Given the description of an element on the screen output the (x, y) to click on. 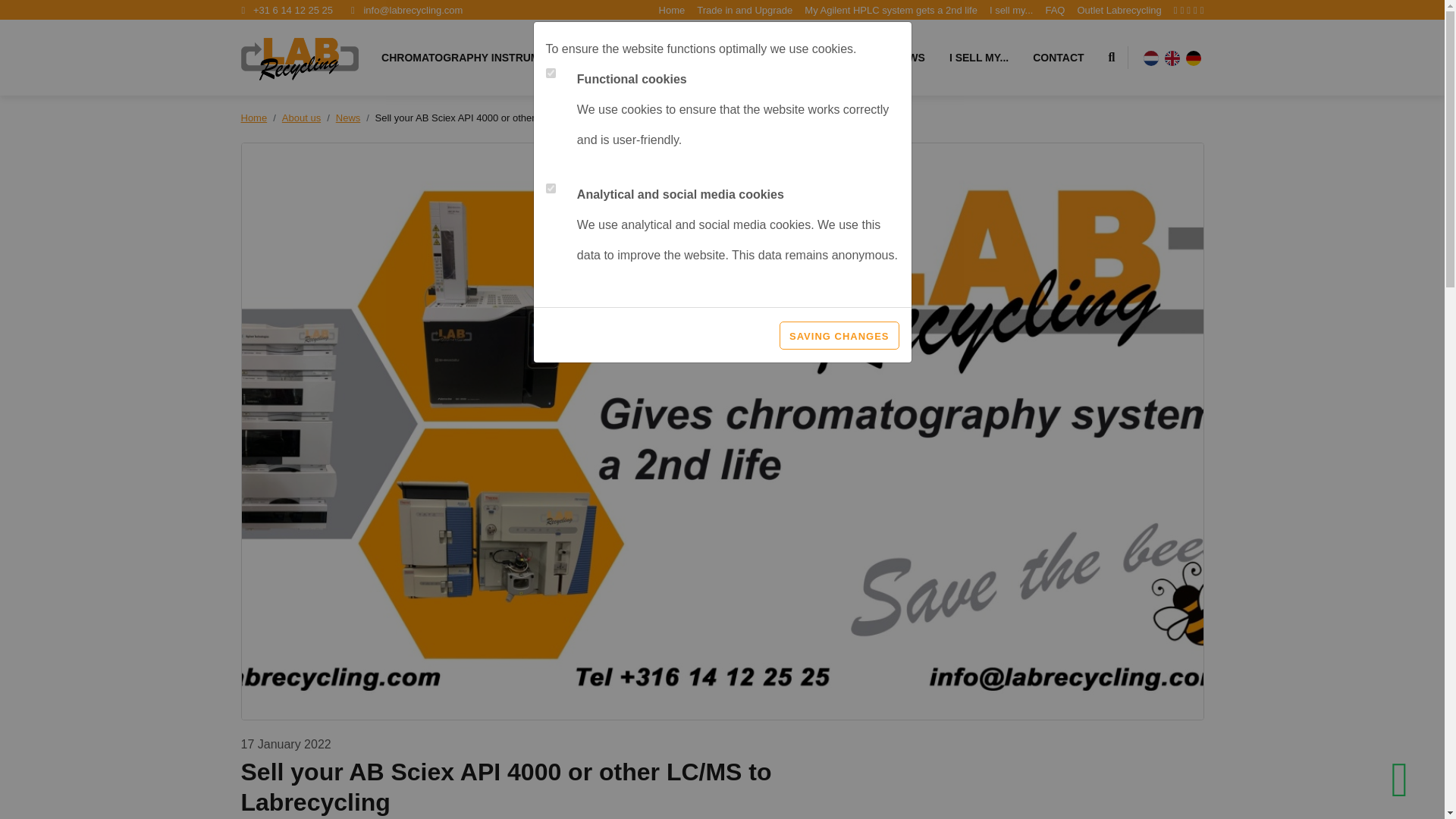
on (551, 188)
News (348, 118)
Chromatography instruments  (474, 57)
FAQ (1054, 9)
Home (672, 9)
CHROMATOGRAPHY INSTRUMENTS (474, 57)
TRADE SHOWS (884, 57)
I sell my... (1011, 9)
Outlet Labrecycling (1118, 9)
I sell my... (1011, 9)
